Given the description of an element on the screen output the (x, y) to click on. 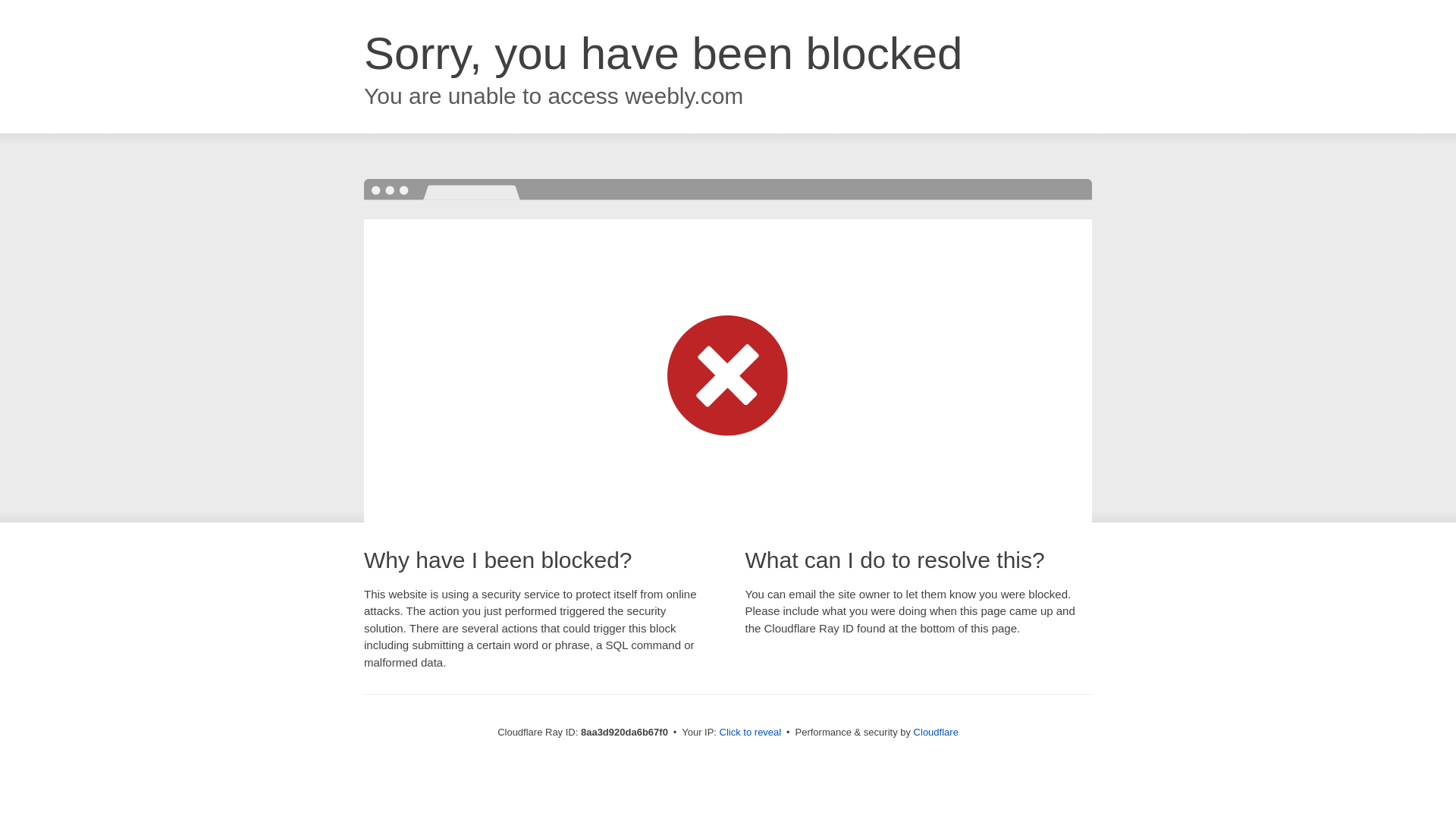
Cloudflare (936, 731)
Click to reveal (750, 732)
